Given the description of an element on the screen output the (x, y) to click on. 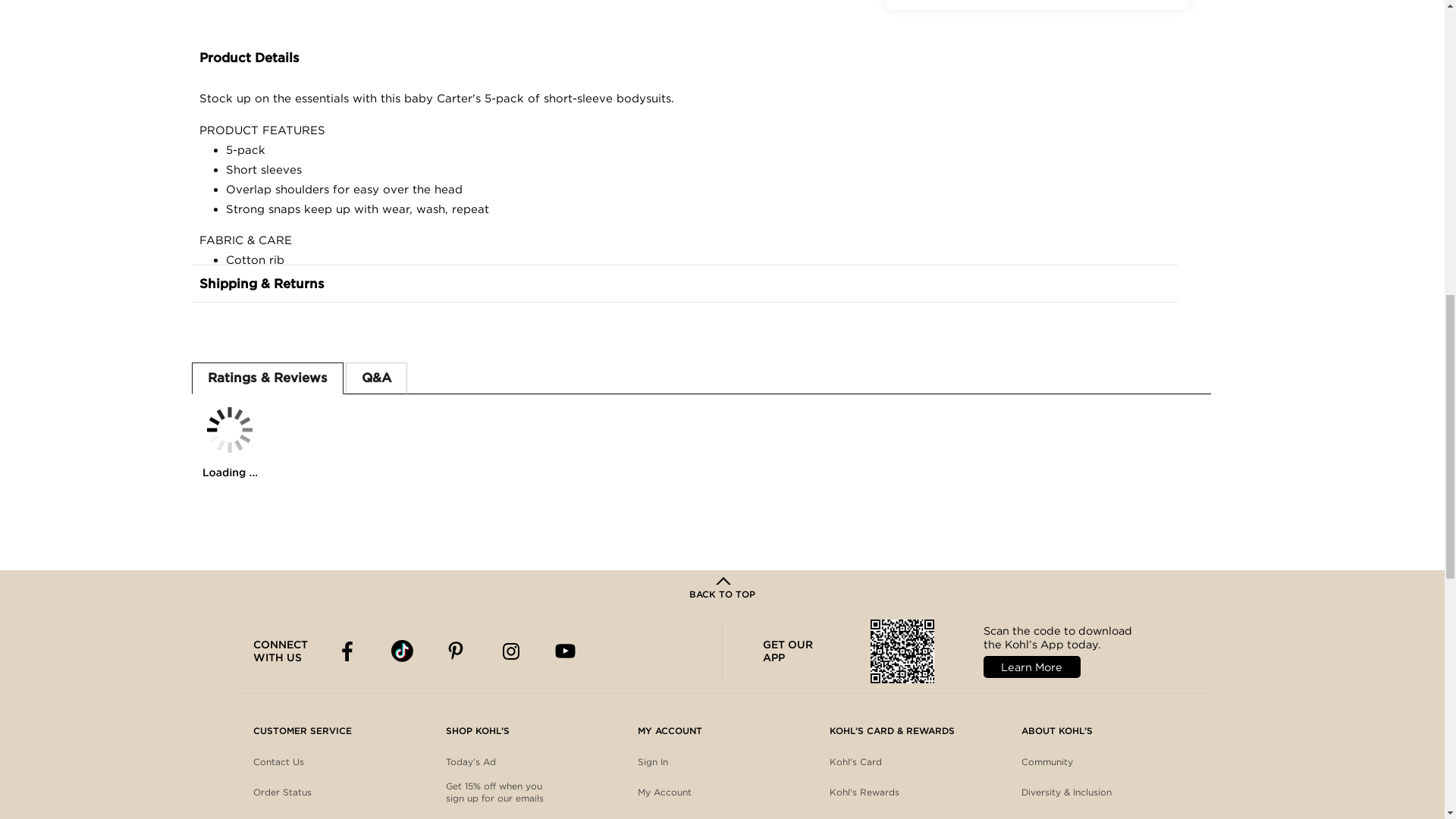
BACK TO TOP (721, 589)
Product Details (683, 57)
